Given the description of an element on the screen output the (x, y) to click on. 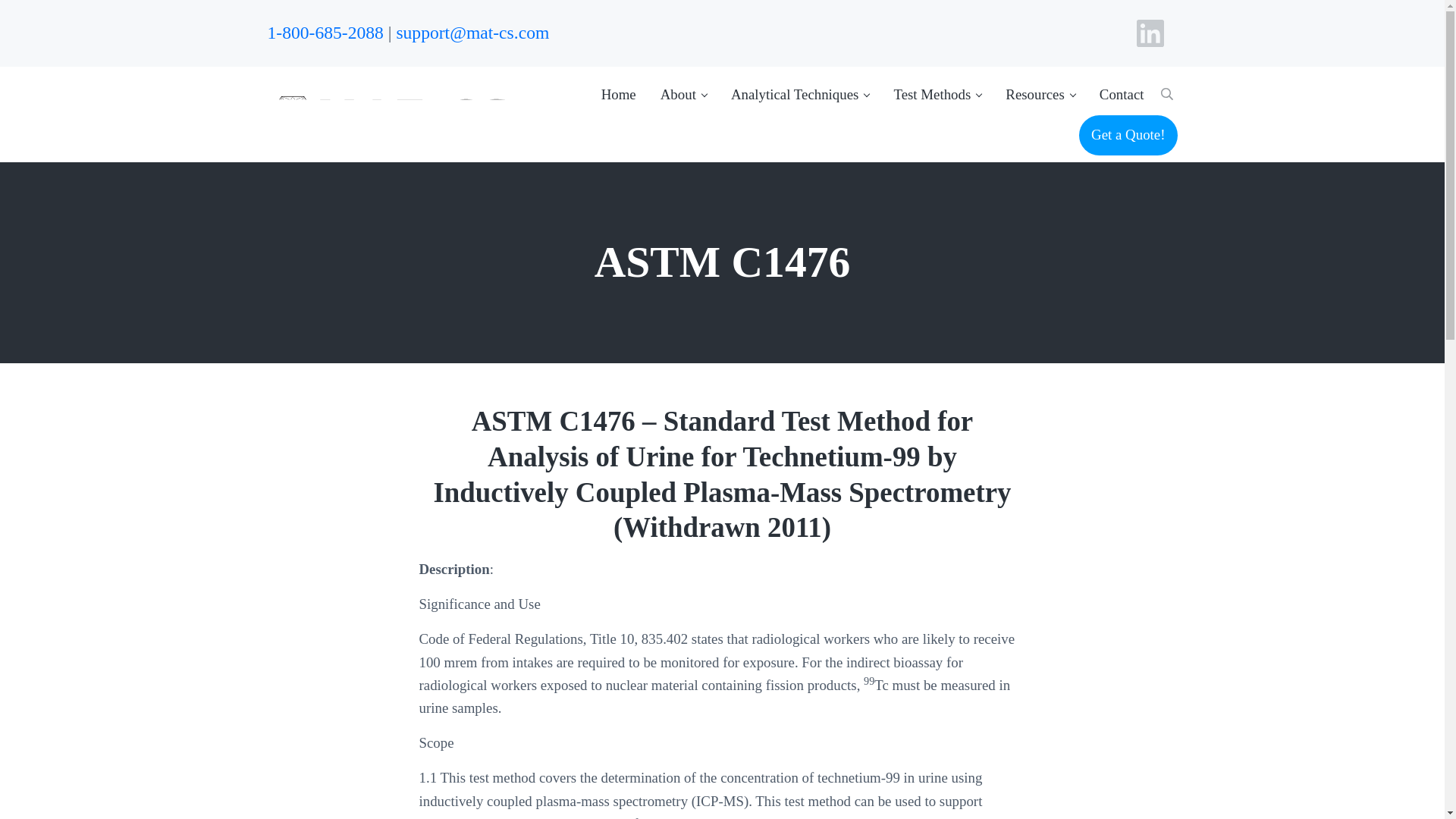
Analytical Techniques (800, 94)
1-800-685-2088 (324, 32)
Test Methods (936, 94)
LinkedIn (1149, 32)
Home (618, 94)
About (683, 94)
